Given the description of an element on the screen output the (x, y) to click on. 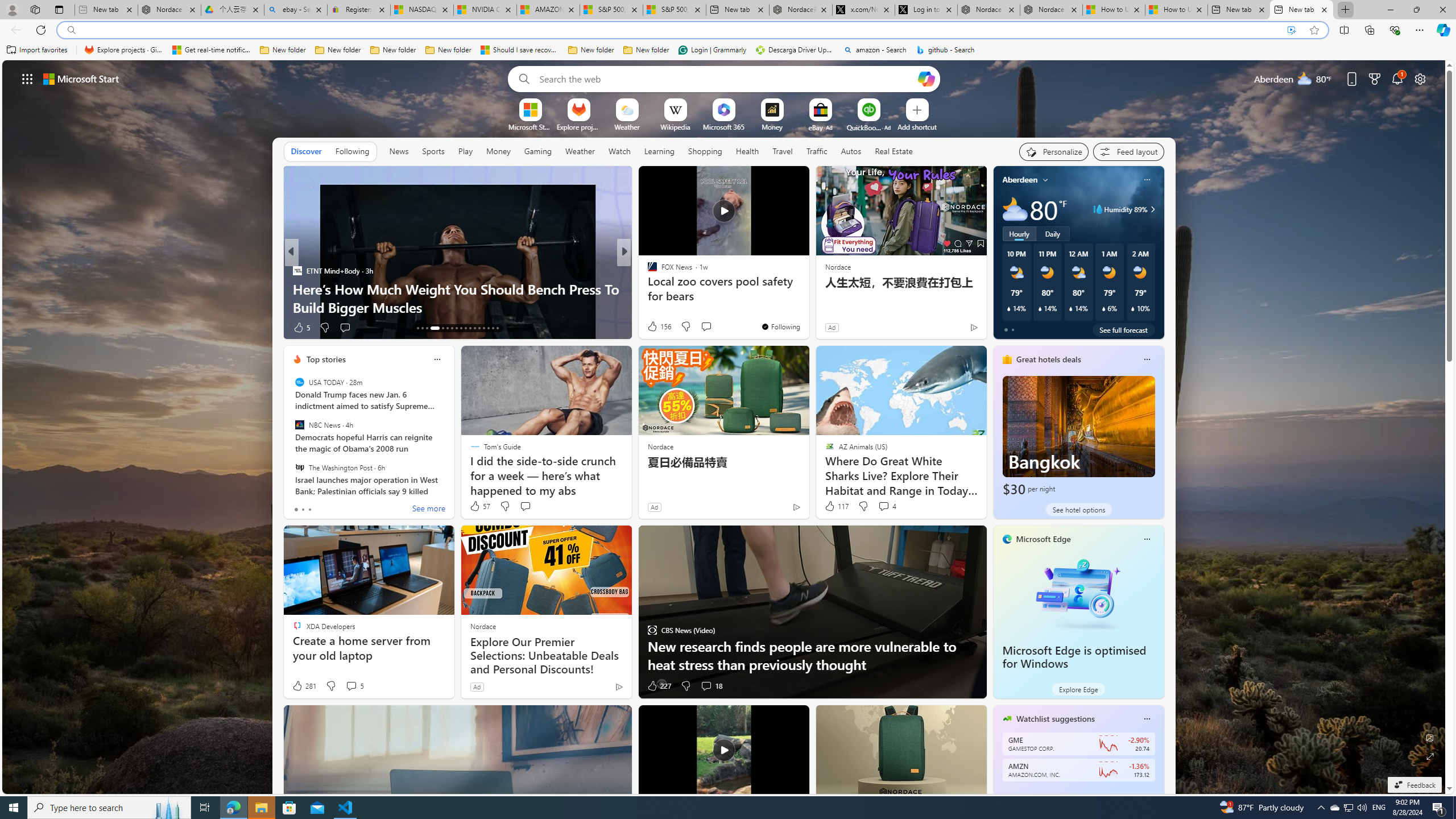
The Telegraph (647, 270)
Health (746, 151)
View comments 4 Comment (887, 505)
Learning (659, 151)
AutomationID: tab-14 (422, 328)
Aberdeen (1019, 179)
26 Like (652, 327)
Should I save recovered Word documents? - Microsoft Support (519, 49)
AutomationID: tab-25 (478, 328)
Pocket-lint (647, 288)
Great hotels deals (1048, 359)
LeagueFeed (647, 288)
View comments 117 Comment (698, 327)
